Given the description of an element on the screen output the (x, y) to click on. 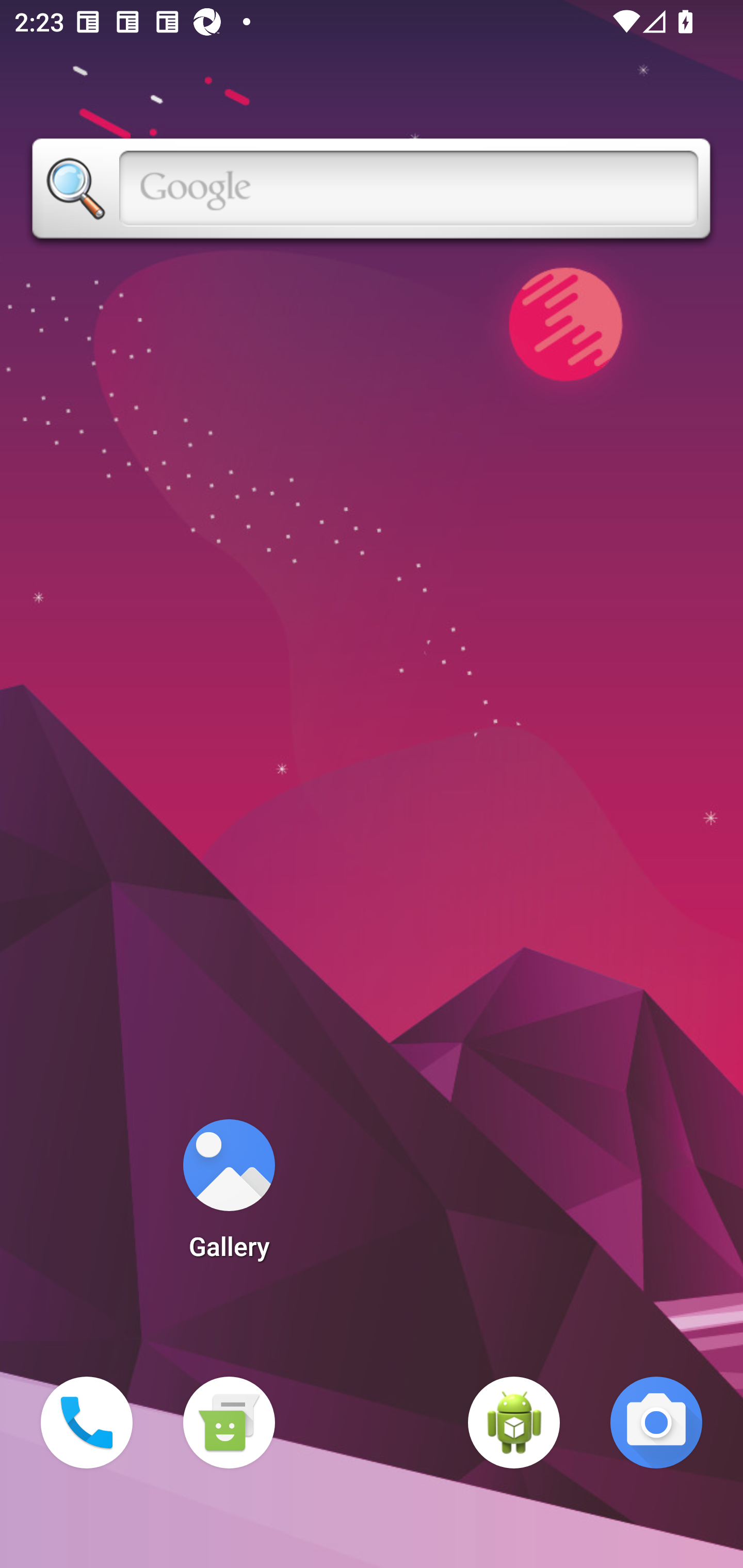
Gallery (228, 1195)
Phone (86, 1422)
Messaging (228, 1422)
WebView Browser Tester (513, 1422)
Camera (656, 1422)
